Given the description of an element on the screen output the (x, y) to click on. 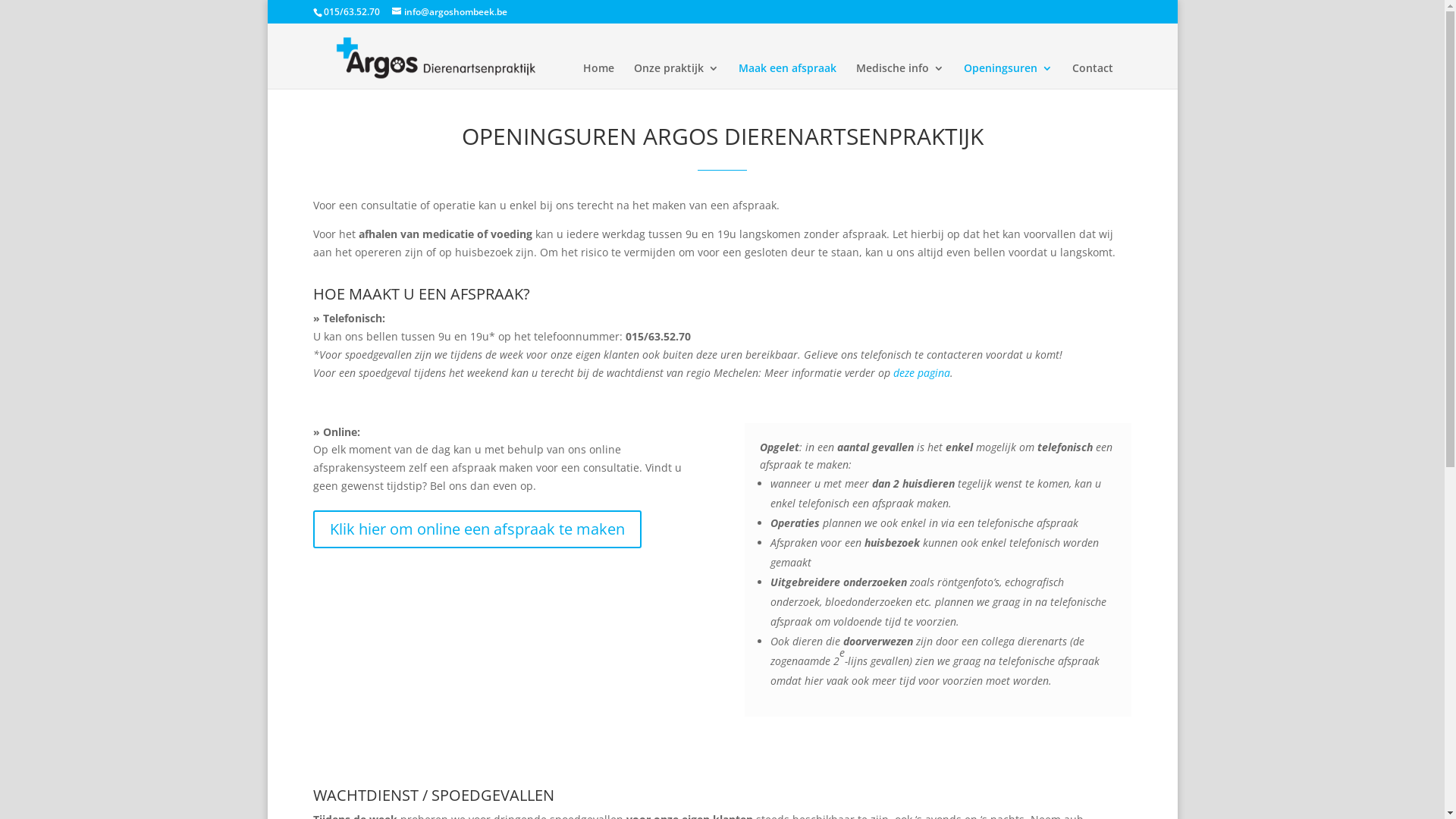
Klik hier om online een afspraak te maken Element type: text (476, 529)
Onze praktijk Element type: text (675, 75)
Openingsuren Element type: text (1007, 75)
Medische info Element type: text (899, 75)
Home Element type: text (597, 75)
Contact Element type: text (1092, 75)
Maak een afspraak Element type: text (787, 75)
info@argoshombeek.be Element type: text (448, 11)
deze pagina Element type: text (921, 372)
